Given the description of an element on the screen output the (x, y) to click on. 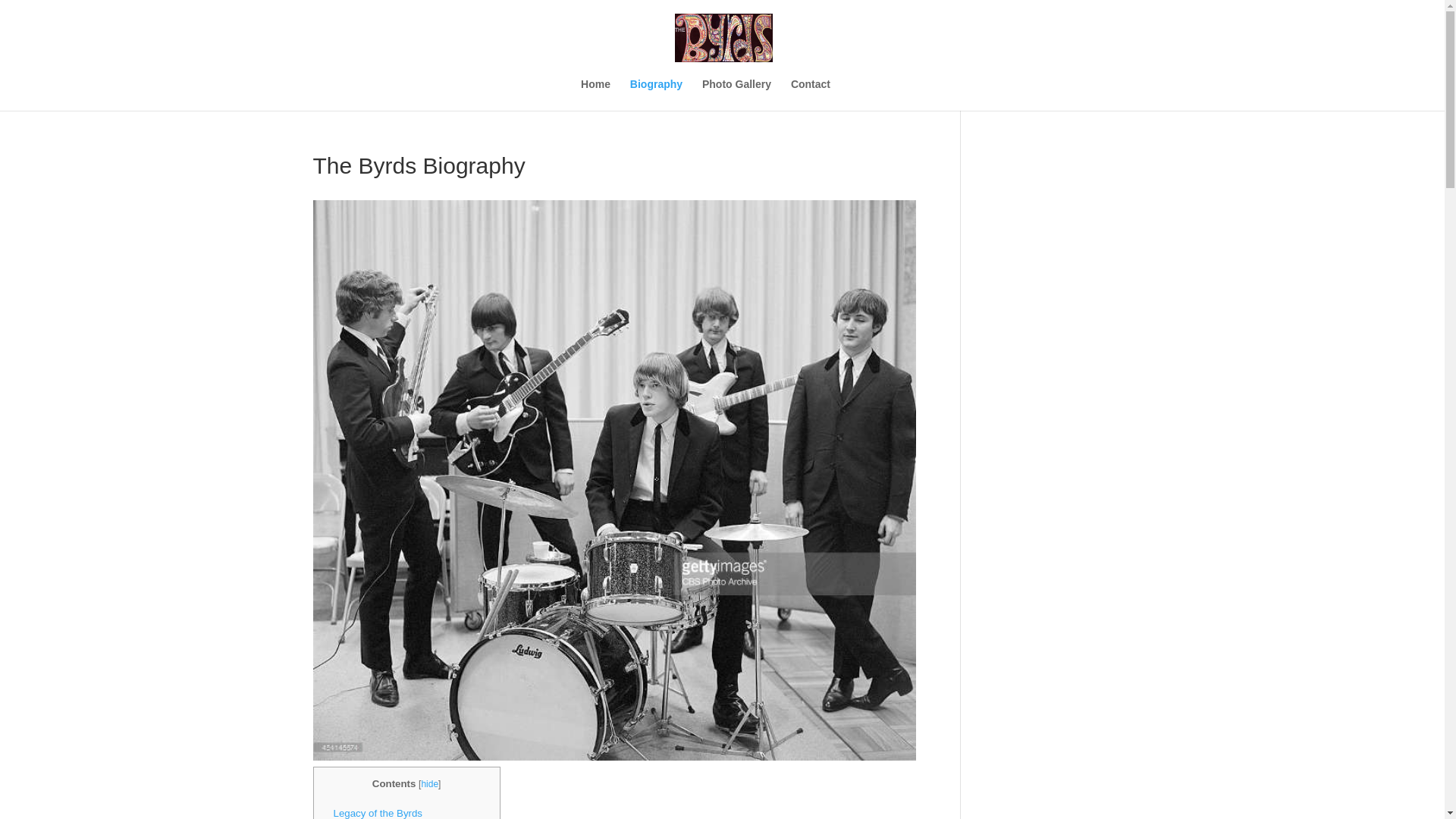
hide (429, 783)
Legacy of the Byrds (378, 813)
Contact (809, 94)
Home (595, 94)
Photo Gallery (736, 94)
Biography (656, 94)
